Given the description of an element on the screen output the (x, y) to click on. 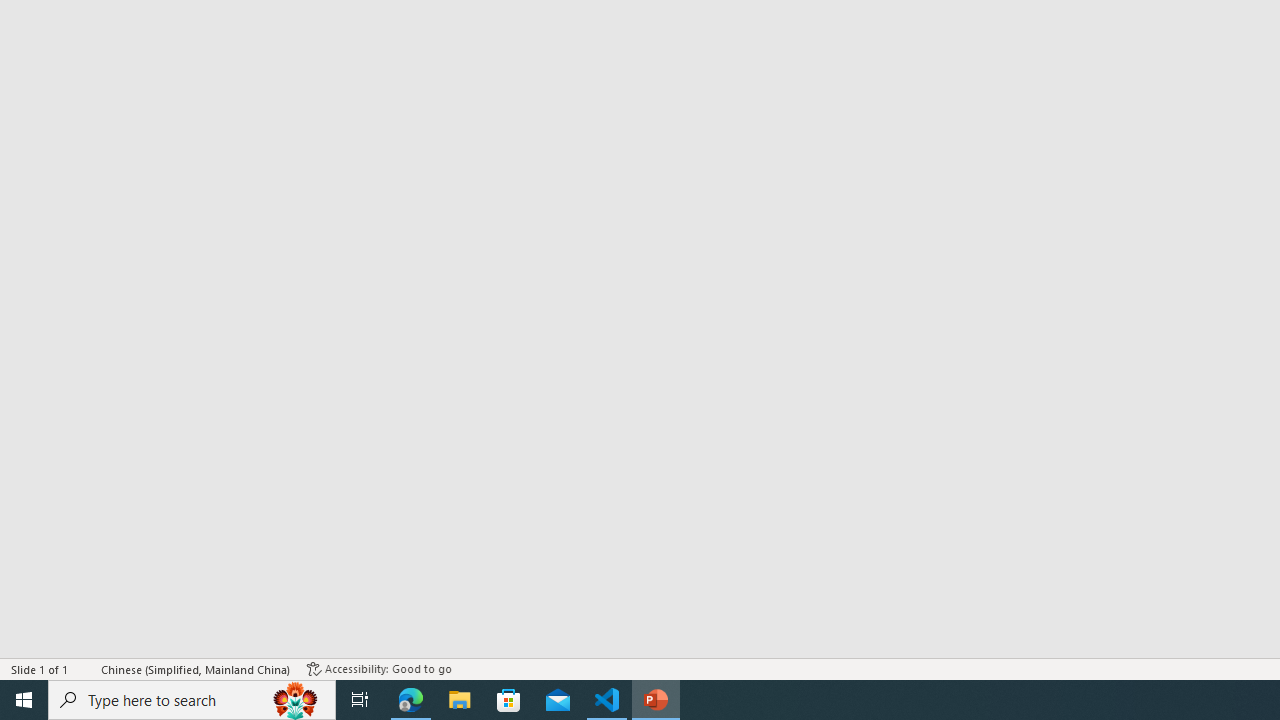
Spell Check  (86, 668)
